Given the description of an element on the screen output the (x, y) to click on. 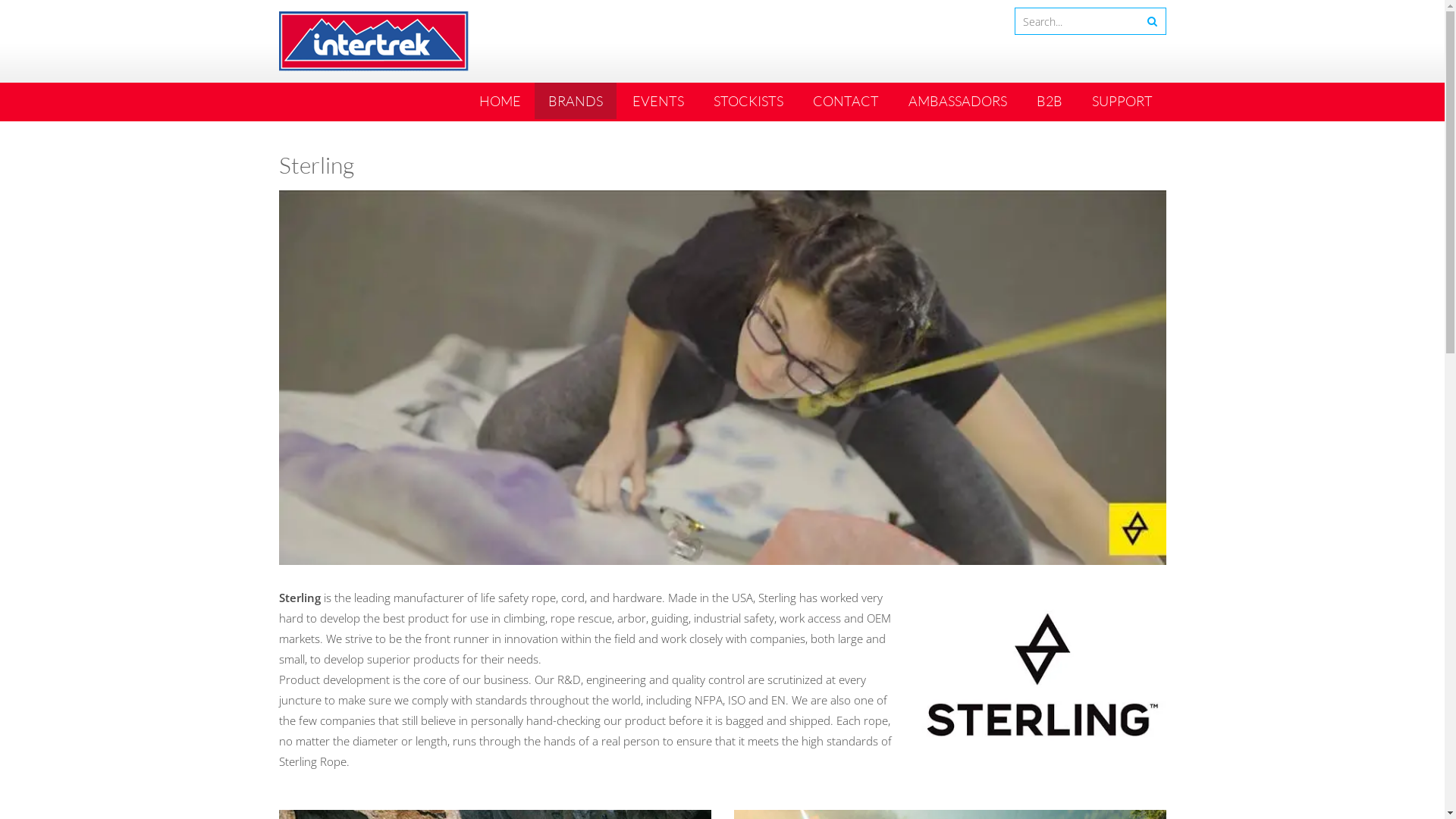
B2B Element type: text (1048, 100)
BRANDS Element type: text (574, 100)
HOME Element type: text (499, 100)
EVENTS Element type: text (657, 100)
CONTACT Element type: text (845, 100)
SUPPORT Element type: text (1122, 100)
STOCKISTS Element type: text (747, 100)
AMBASSADORS Element type: text (957, 100)
